Given the description of an element on the screen output the (x, y) to click on. 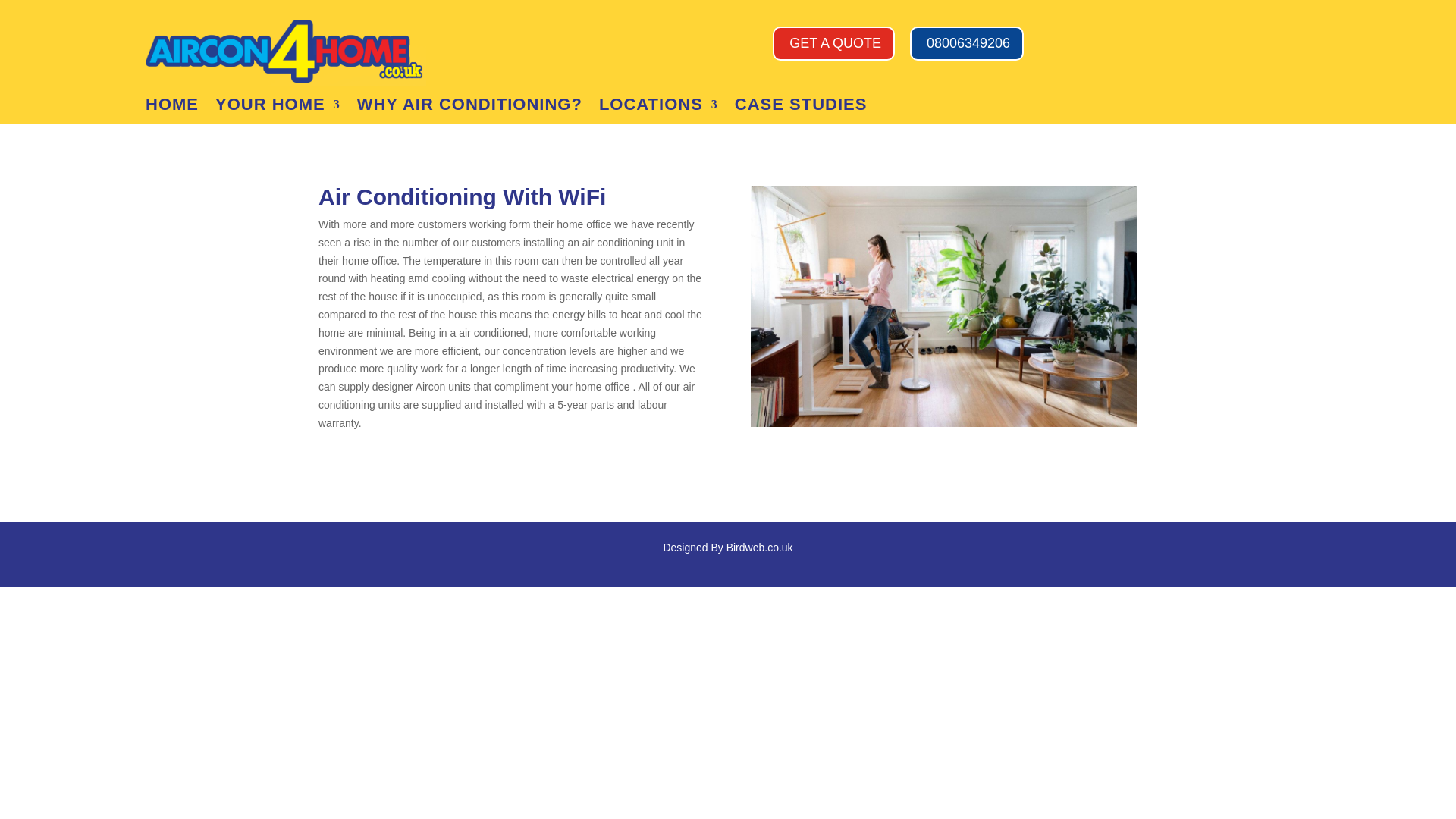
YOUR HOME (277, 107)
logo (285, 47)
CASE STUDIES (801, 107)
HOME (171, 107)
LOCATIONS (657, 107)
GET A QUOTE (834, 43)
WHY AIR CONDITIONING? (469, 107)
Home Office Air Conditioning Installations (944, 305)
08006349206 (966, 43)
